Given the description of an element on the screen output the (x, y) to click on. 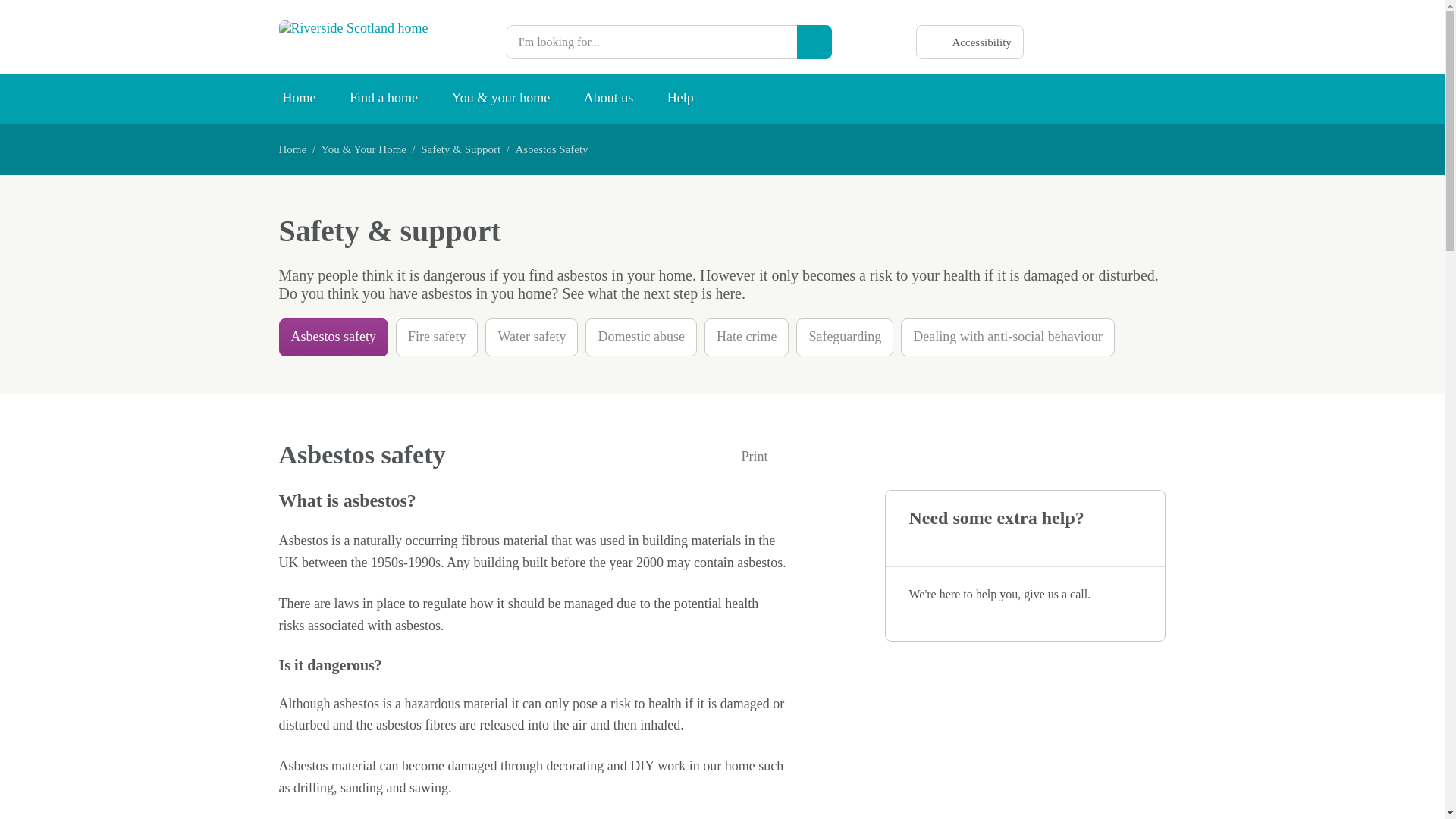
Home (293, 149)
Accessibility (969, 41)
Home (298, 98)
Find a home (383, 98)
Help (680, 98)
About us (609, 98)
